Given the description of an element on the screen output the (x, y) to click on. 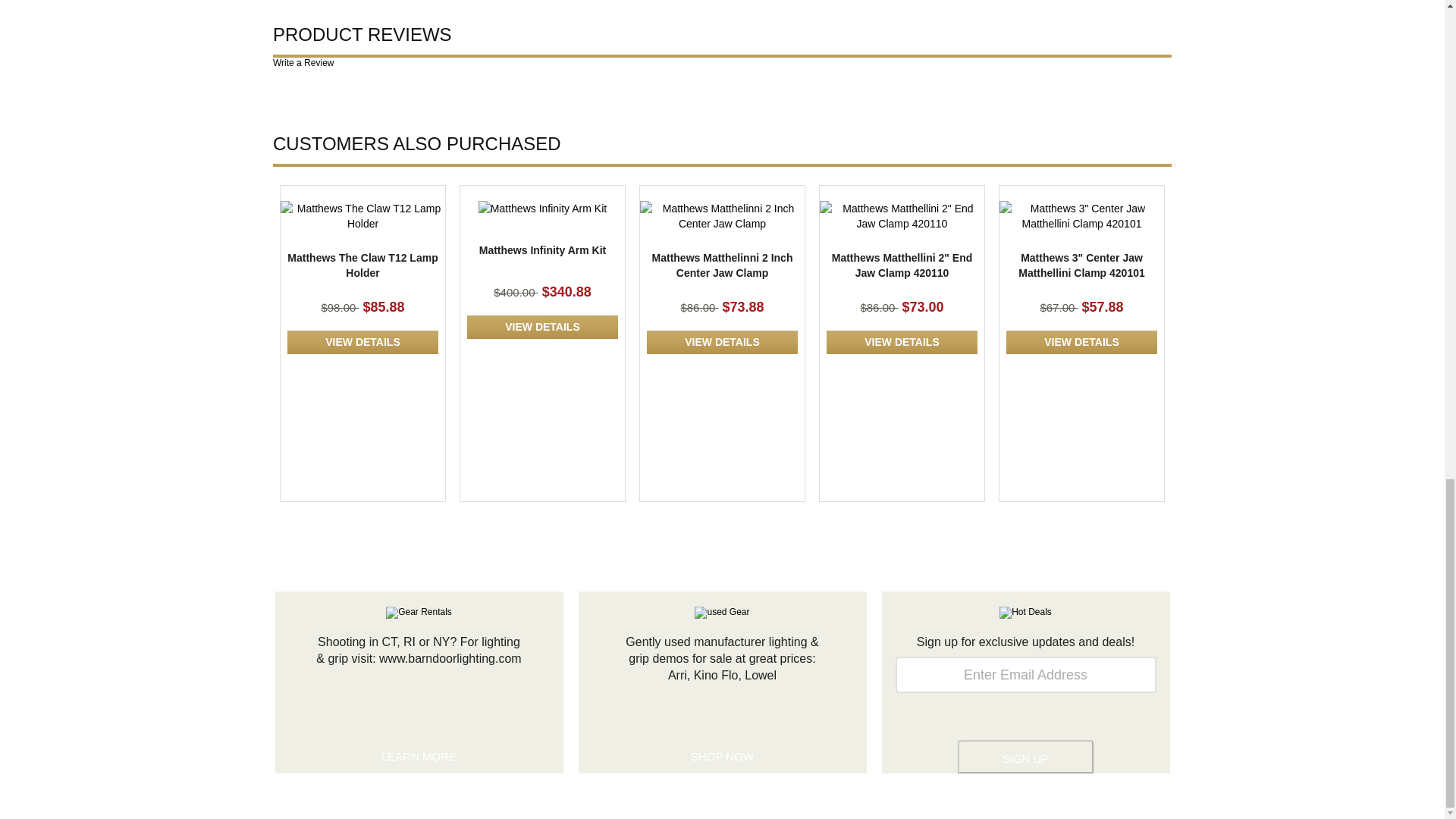
Enter Email Address (1025, 674)
Sign Up (1025, 756)
